Given the description of an element on the screen output the (x, y) to click on. 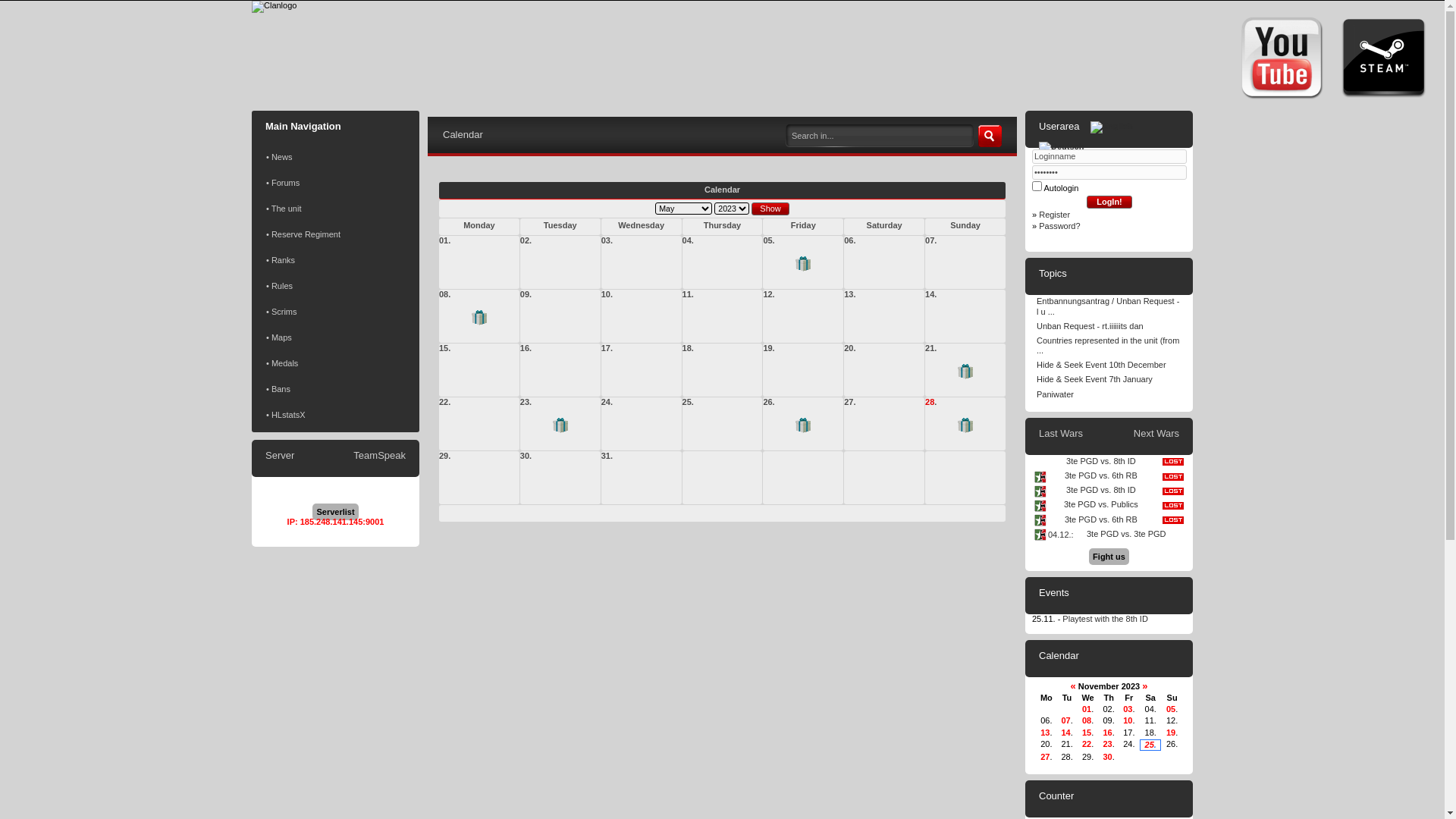
Paniwater Element type: text (1109, 395)
English Element type: hover (1111, 127)
10 Element type: text (1127, 719)
25 Element type: text (1149, 744)
Register Element type: text (1054, 214)
Entbannungsantrag / Unban Request - l u ... Element type: text (1109, 306)
03 Element type: text (1127, 708)
30 Element type: text (1106, 756)
14 Element type: text (1065, 732)
01 Element type: text (1086, 708)
Show Element type: text (770, 208)
19 Element type: text (1170, 732)
15 Element type: text (1086, 732)
LogIn! Element type: text (1109, 201)
Deutsch Element type: hover (1060, 147)
13 Element type: text (1044, 732)
22 Element type: text (1086, 743)
Unban Request - rt.iiiiiits dan Element type: text (1109, 327)
3te PGD vs. Publics Element type: text (1101, 505)
05 Element type: text (1170, 708)
Hide & Seek Event 7th January Element type: text (1109, 380)
3te PGD vs. 8th ID Element type: text (1101, 462)
Playtest with the 8th ID Element type: text (1105, 618)
16 Element type: text (1106, 732)
3te PGD vs. 8th ID Element type: text (1101, 490)
3te PGD vs. 6th RB Element type: text (1101, 476)
Fight us Element type: text (1108, 556)
07 Element type: text (1065, 719)
23 Element type: text (1106, 743)
08 Element type: text (1086, 719)
Hide & Seek Event 10th December Element type: text (1109, 365)
Password? Element type: text (1058, 225)
Serverlist Element type: text (334, 511)
3te PGD vs. 6th RB Element type: text (1101, 520)
3te PGD vs. 3te PGD Element type: text (1134, 534)
Countries represented in the unit (from ... Element type: text (1109, 346)
27 Element type: text (1044, 756)
